Given the description of an element on the screen output the (x, y) to click on. 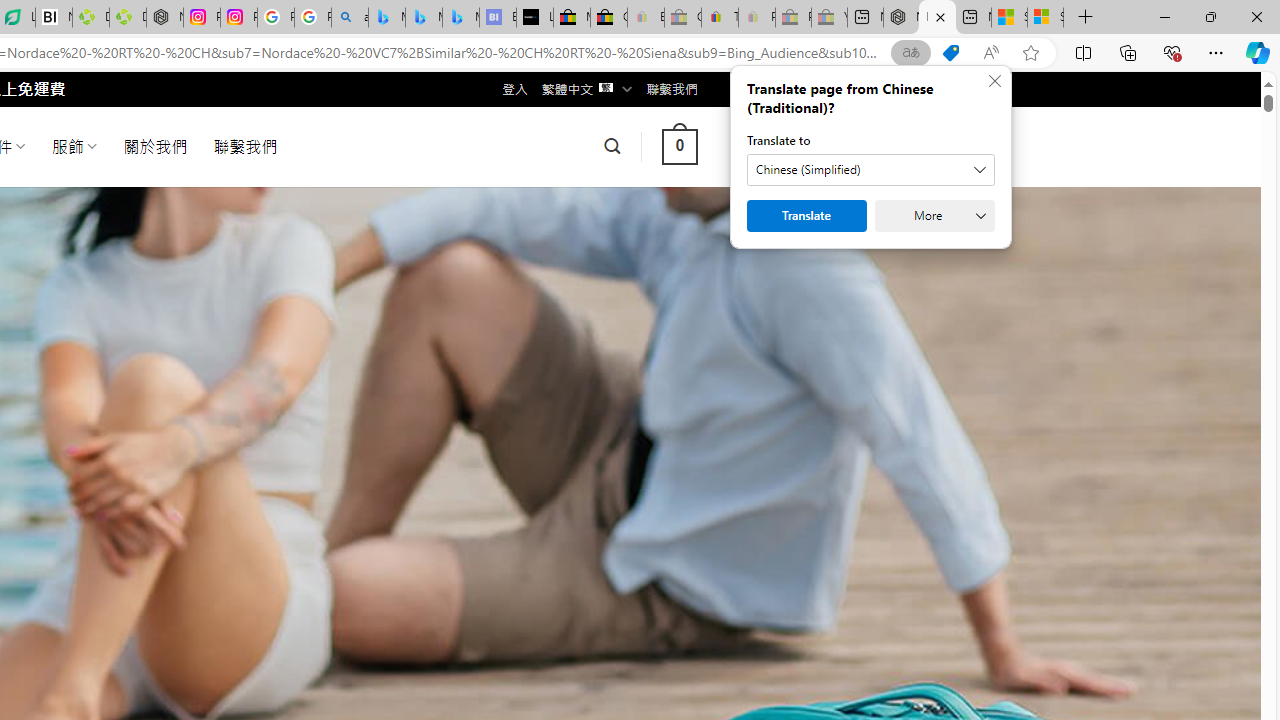
Threats and offensive language policy | eBay (719, 17)
Microsoft Bing Travel - Flights from Hong Kong to Bangkok (386, 17)
Nvidia va a poner a prueba la paciencia de los inversores (53, 17)
This site has coupons! Shopping in Microsoft Edge (950, 53)
